Given the description of an element on the screen output the (x, y) to click on. 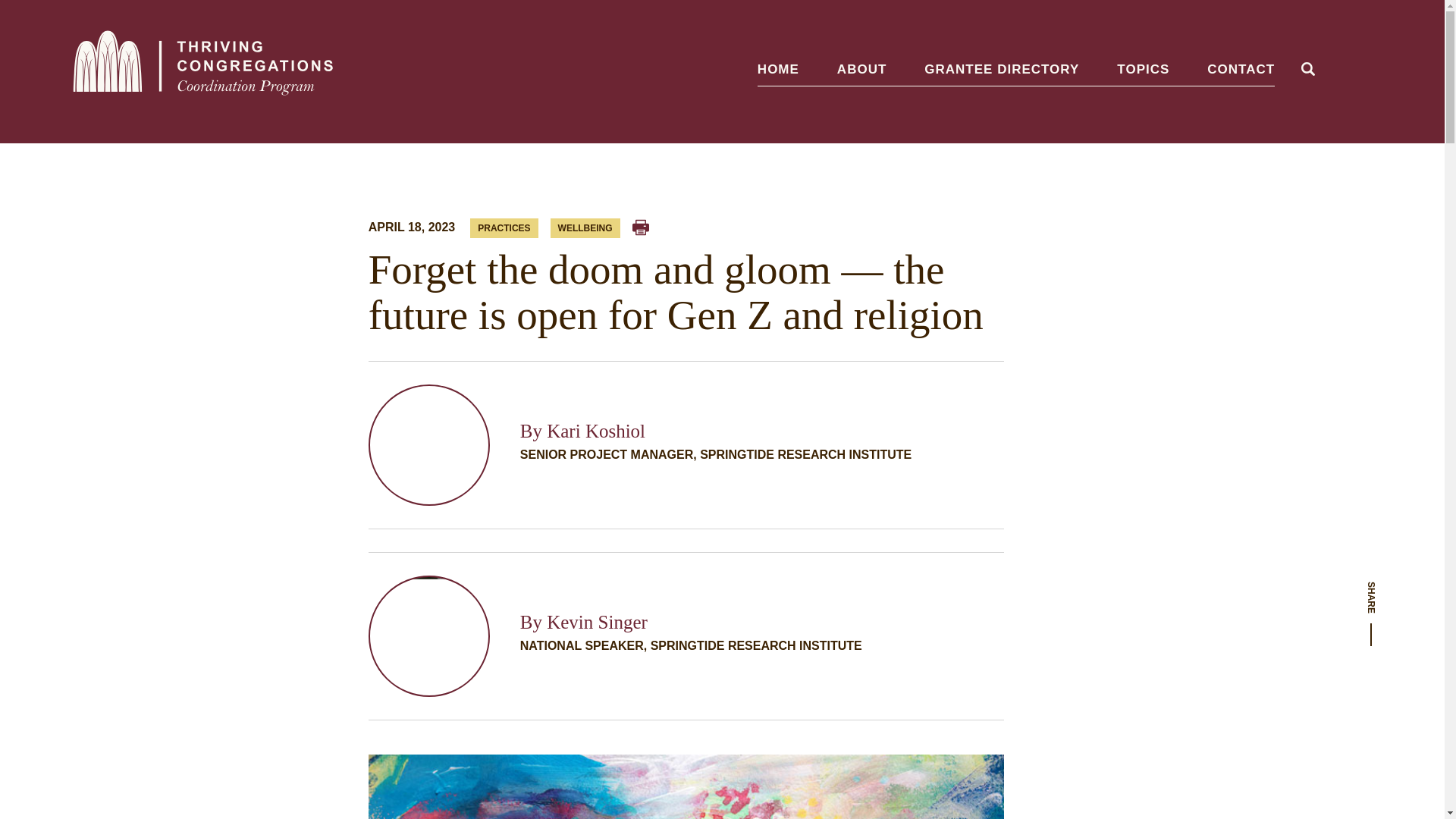
ABOUT (861, 71)
TOPICS (1142, 71)
CONTACT (1241, 71)
GRANTEE DIRECTORY (1001, 71)
HOME (778, 71)
Navigate to Home (203, 71)
Homepage Link (203, 71)
